Given the description of an element on the screen output the (x, y) to click on. 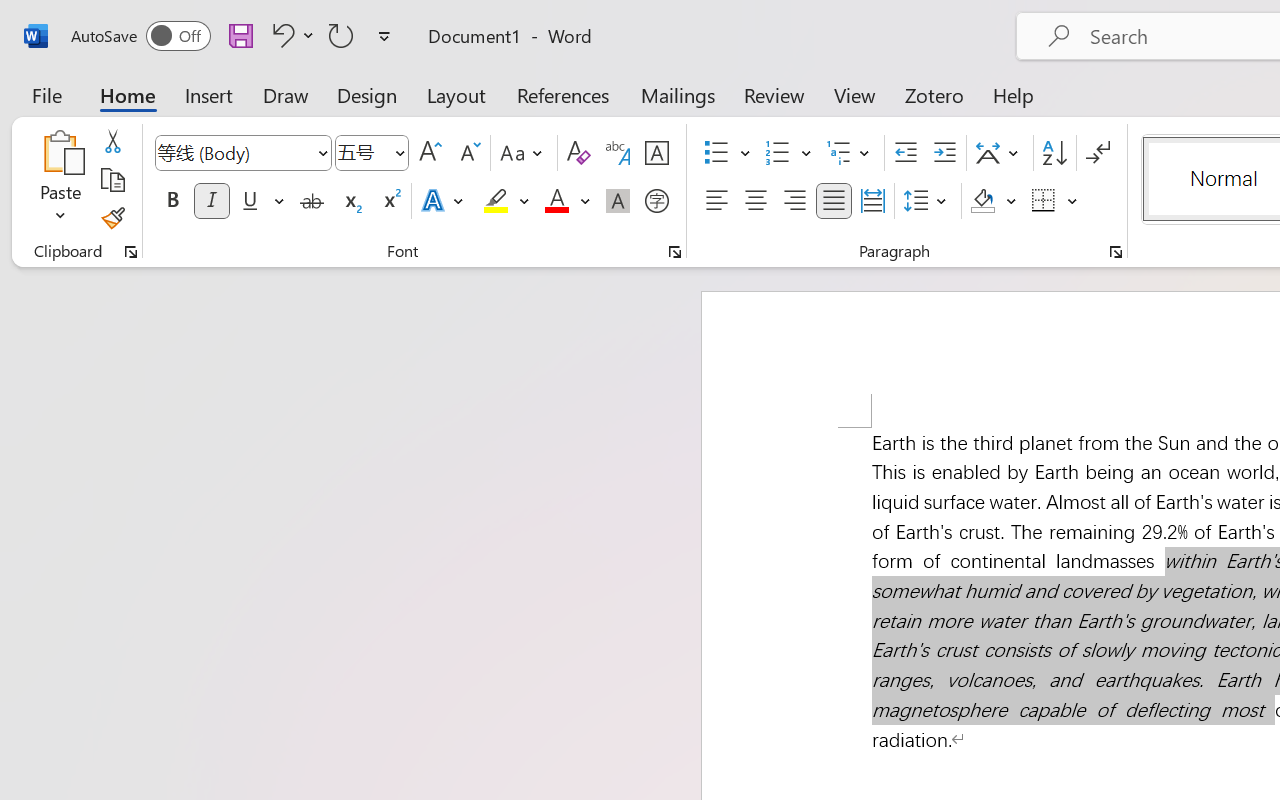
Office Clipboard... (131, 252)
Font Color Red (556, 201)
Asian Layout (1000, 153)
Sort... (1054, 153)
Text Highlight Color Yellow (495, 201)
Decrease Indent (906, 153)
Clear Formatting (578, 153)
